Given the description of an element on the screen output the (x, y) to click on. 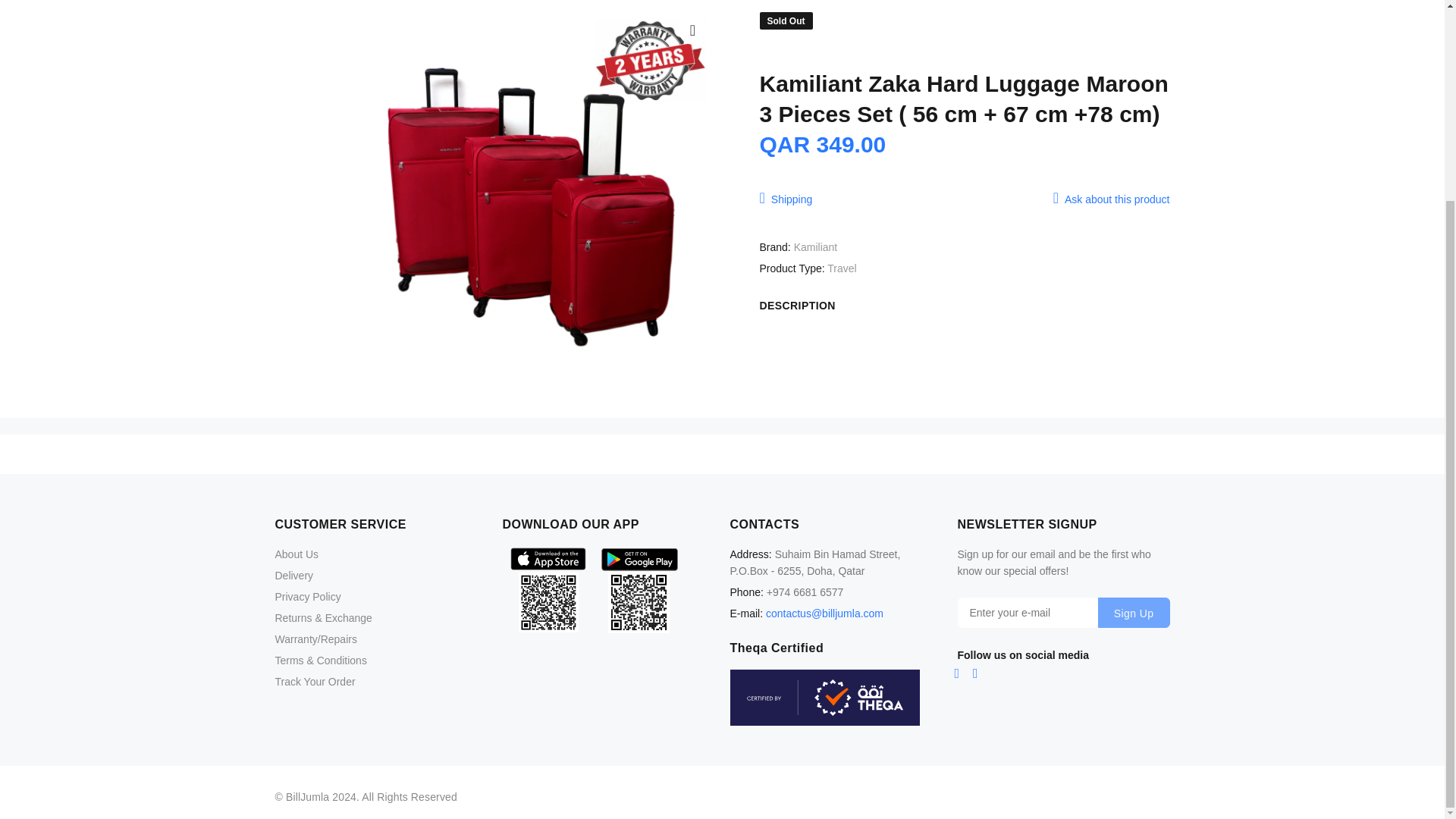
Kamiliant (815, 246)
